Given the description of an element on the screen output the (x, y) to click on. 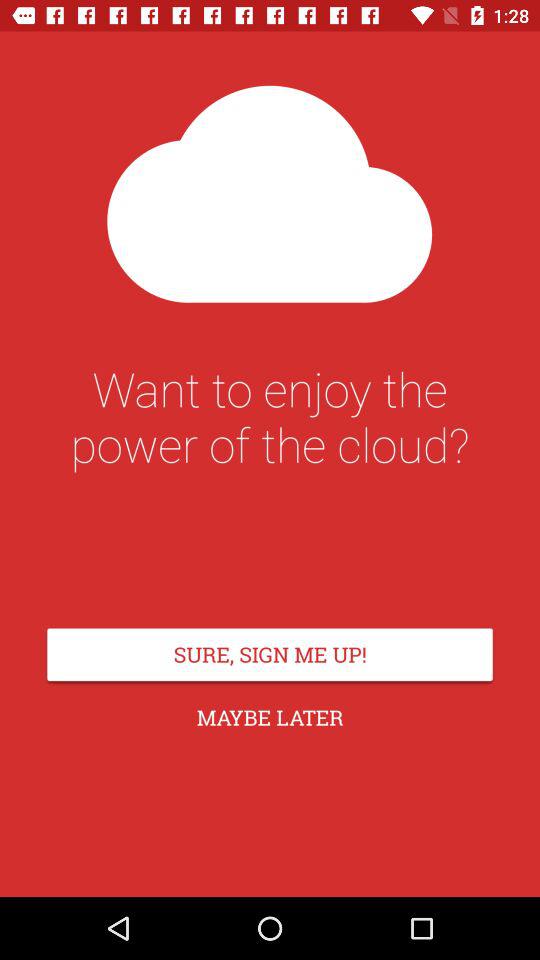
launch the maybe later (269, 717)
